Given the description of an element on the screen output the (x, y) to click on. 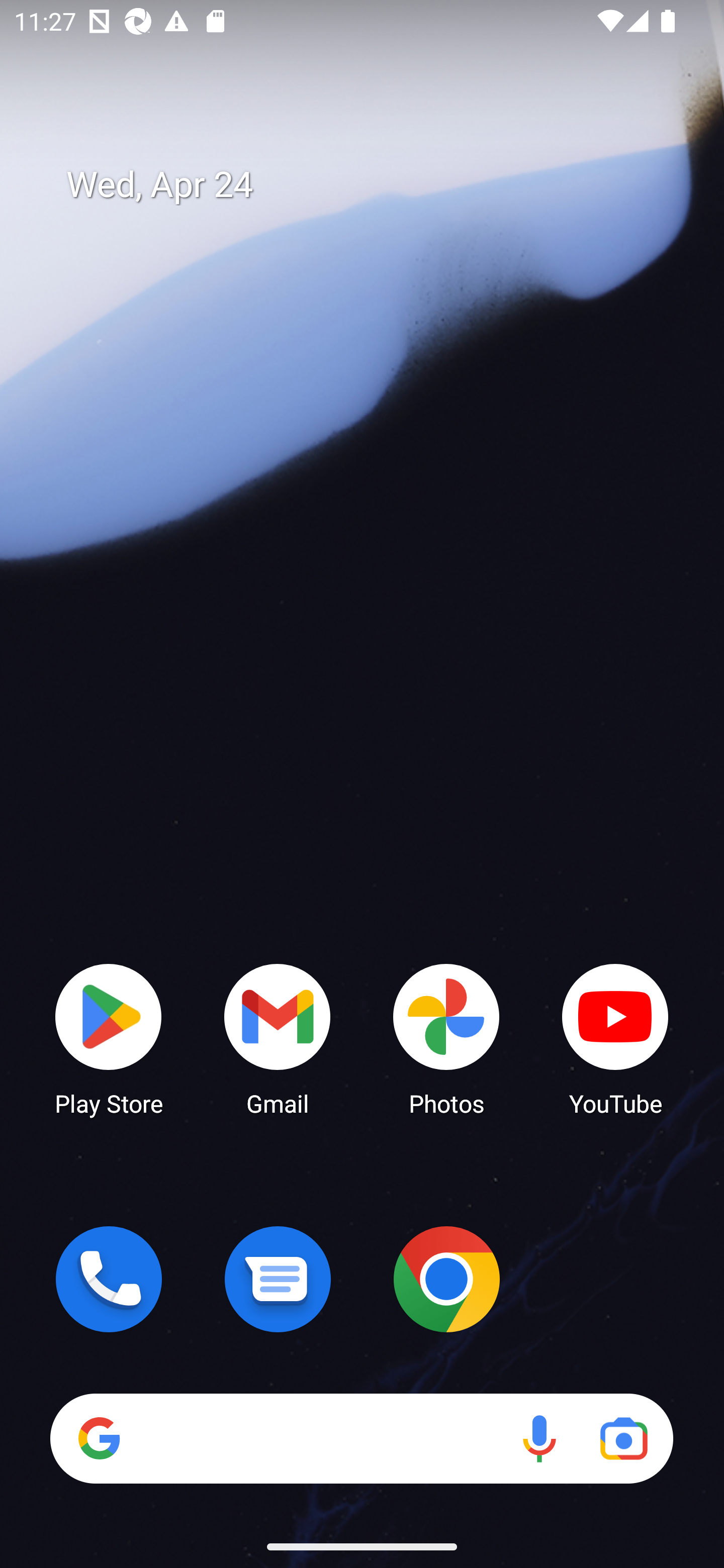
Wed, Apr 24 (375, 184)
Play Store (108, 1038)
Gmail (277, 1038)
Photos (445, 1038)
YouTube (615, 1038)
Phone (108, 1279)
Messages (277, 1279)
Chrome (446, 1279)
Search Voice search Google Lens (361, 1438)
Voice search (539, 1438)
Google Lens (623, 1438)
